Given the description of an element on the screen output the (x, y) to click on. 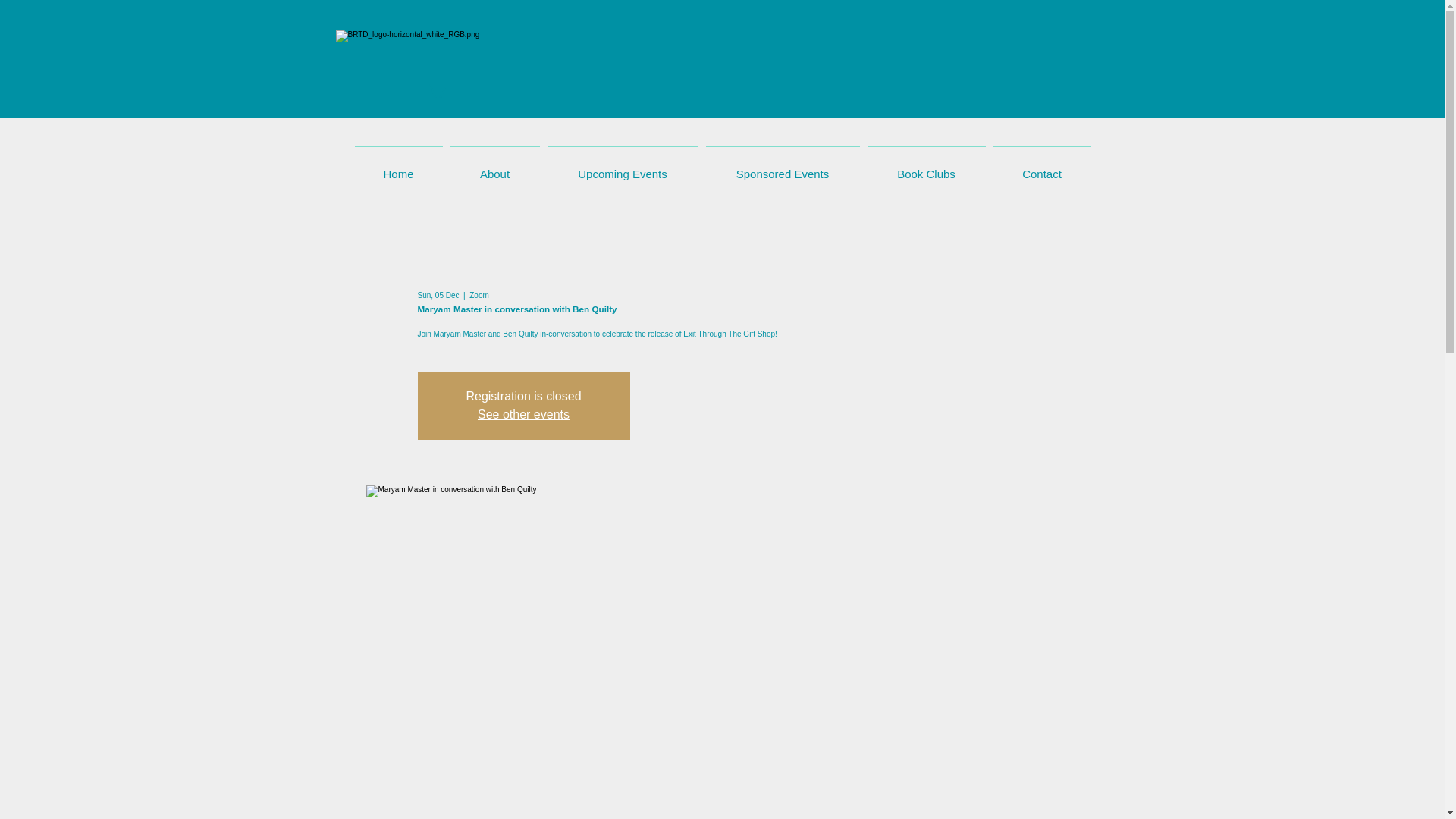
Upcoming Events (622, 167)
Sponsored Events (782, 167)
Book Clubs (925, 167)
Home (397, 167)
About (494, 167)
See other events (523, 413)
Contact (1041, 167)
